Given the description of an element on the screen output the (x, y) to click on. 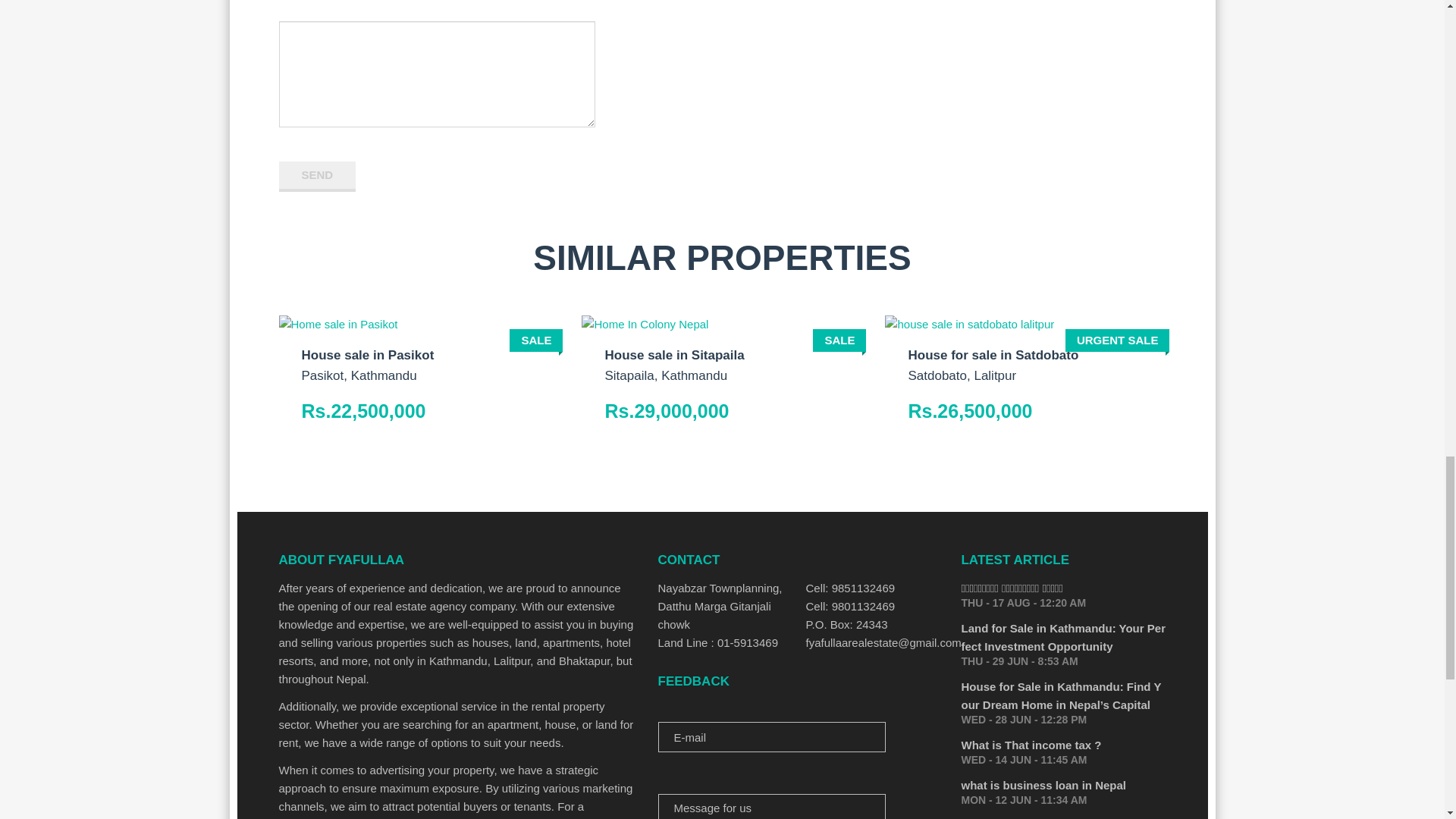
Send (317, 176)
